Given the description of an element on the screen output the (x, y) to click on. 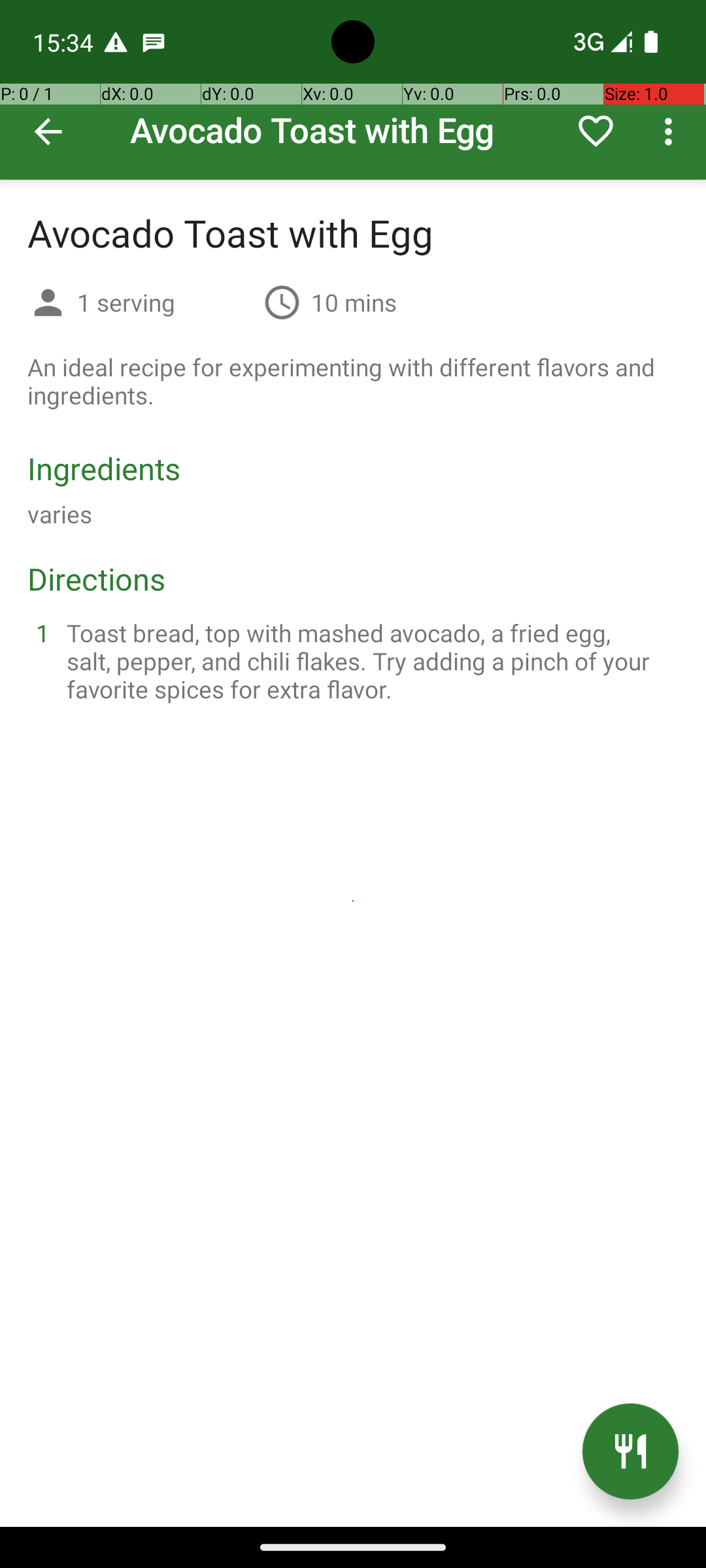
varies Element type: android.widget.TextView (59, 513)
Toast bread, top with mashed avocado, a fried egg, salt, pepper, and chili flakes. Try adding a pinch of your favorite spices for extra flavor. Element type: android.widget.TextView (368, 660)
